Given the description of an element on the screen output the (x, y) to click on. 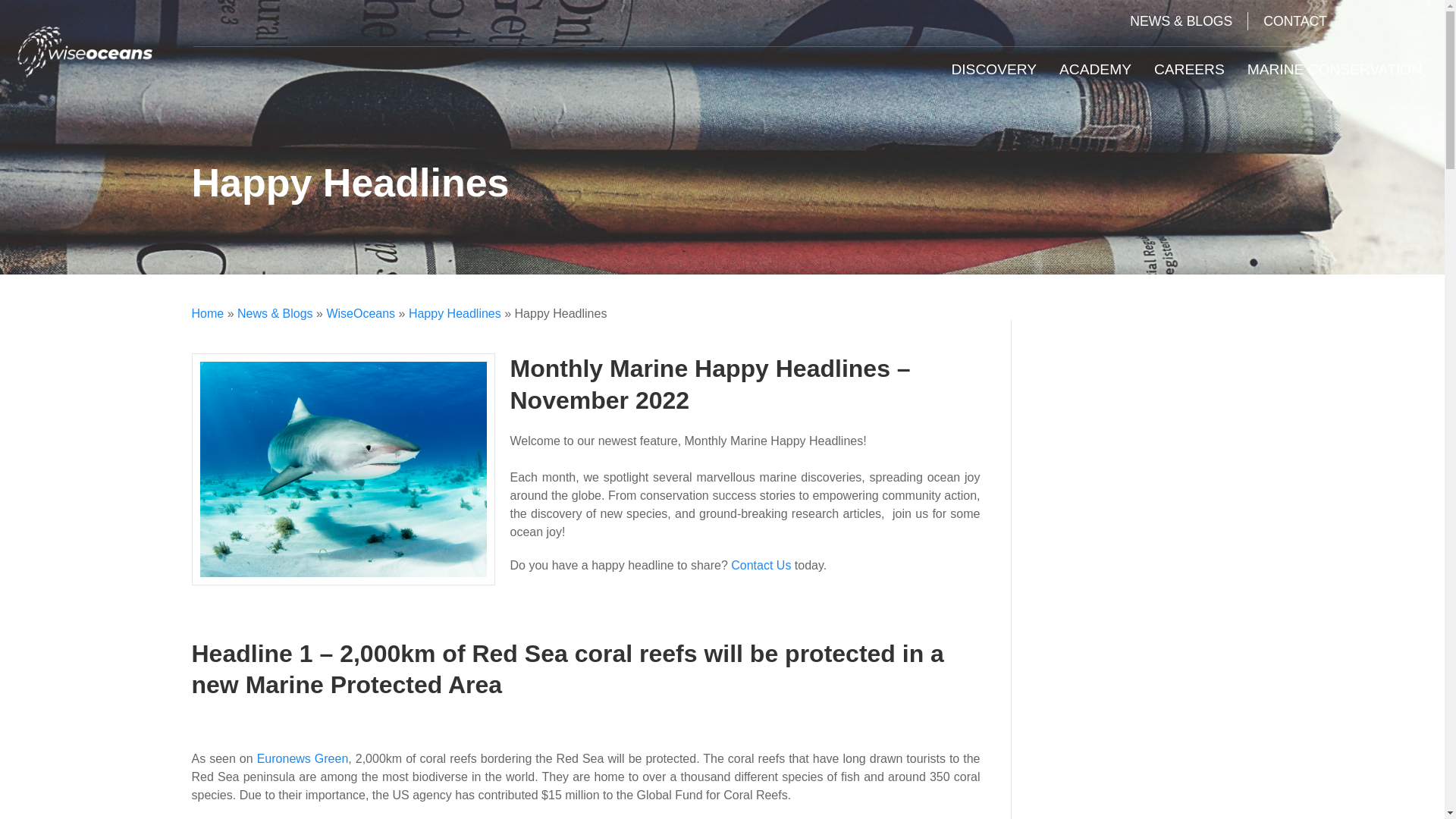
CAREERS (1189, 69)
Home (207, 313)
Happy Headlines (454, 313)
Contact Us (760, 564)
Euronews Green (303, 758)
DISCOVERY (993, 69)
ACADEMY (1095, 69)
CONTACT (1294, 21)
MARINE CONSERVATION (1334, 69)
WiseOceans (360, 313)
